Given the description of an element on the screen output the (x, y) to click on. 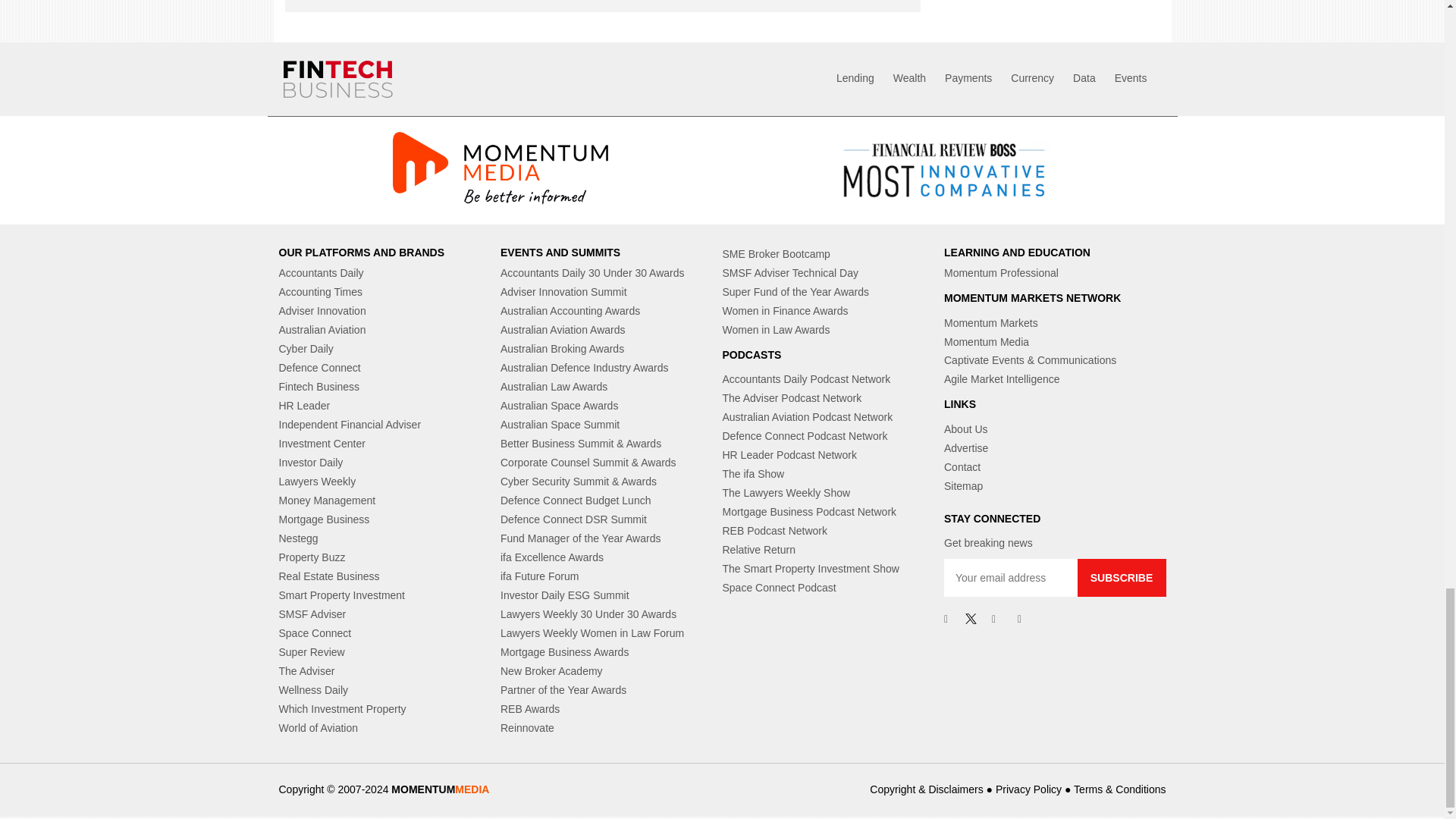
SUBSCRIBE (1121, 577)
